Given the description of an element on the screen output the (x, y) to click on. 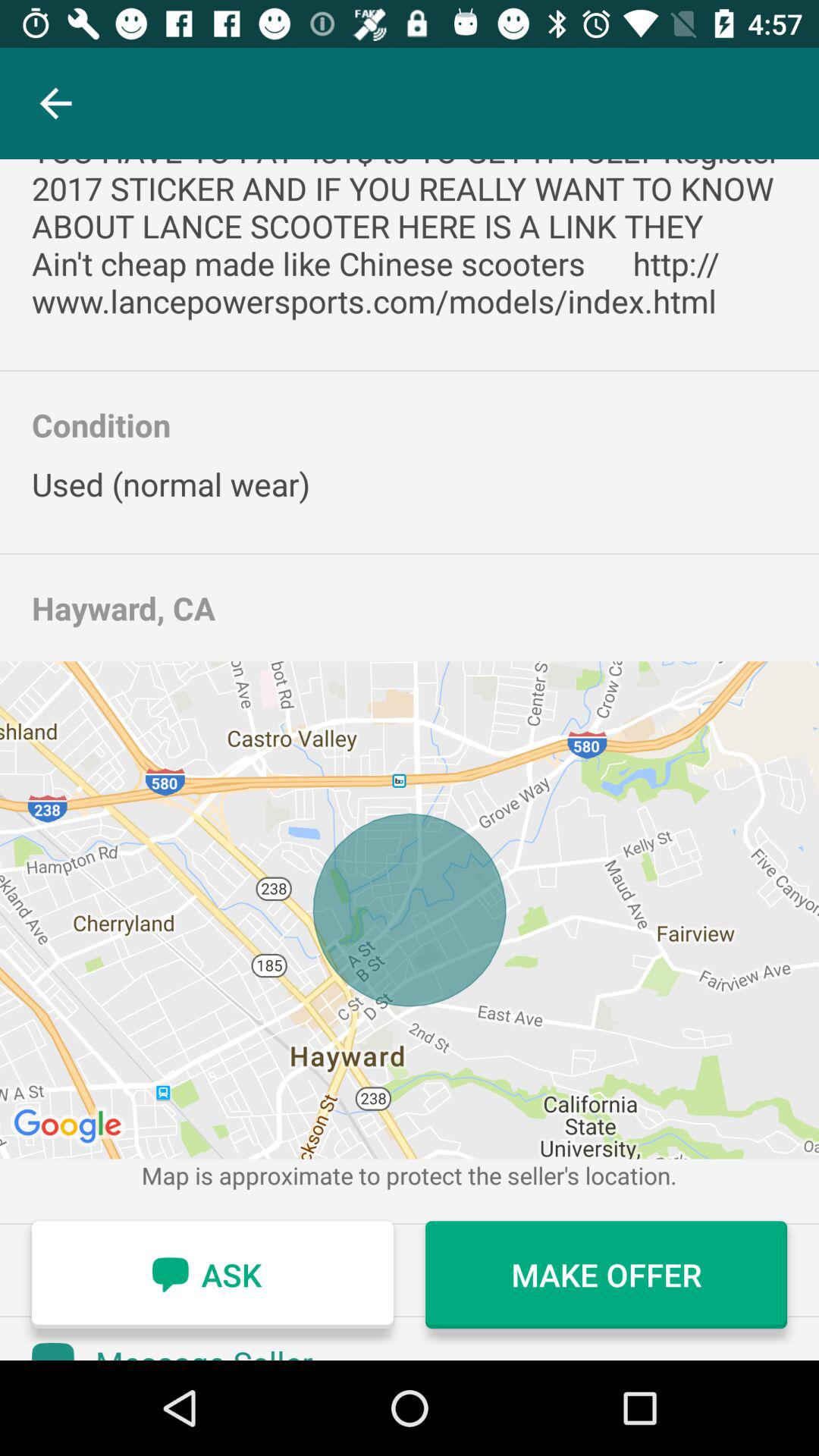
flip until i have a icon (409, 240)
